Given the description of an element on the screen output the (x, y) to click on. 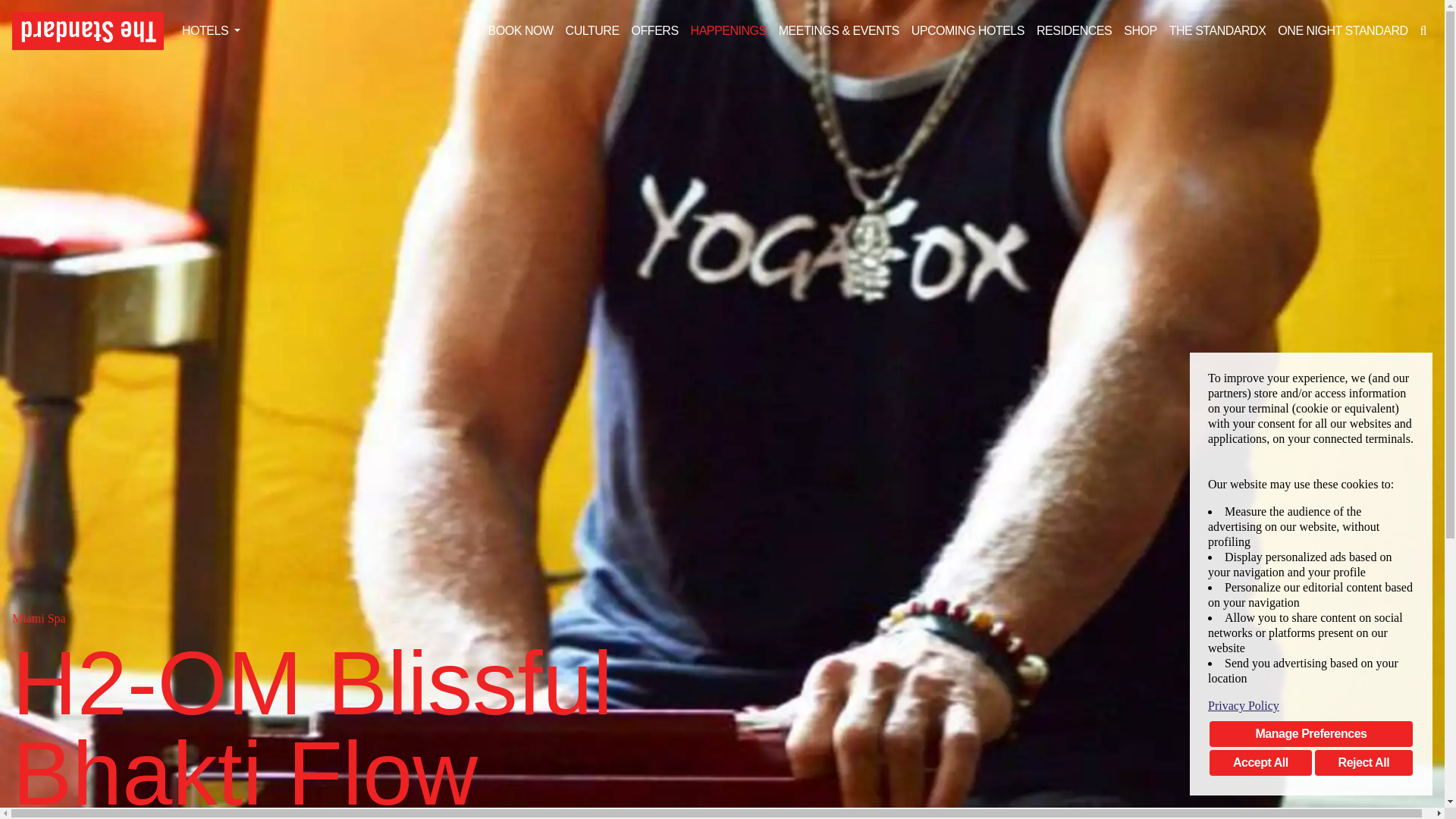
RESIDENCES (1074, 30)
Reject All (1363, 762)
CULTURE (592, 30)
UPCOMING HOTELS (967, 30)
HAPPENINGS (728, 30)
SHOP (1139, 30)
ONE NIGHT STANDARD (1342, 30)
BOOK NOW (520, 30)
Manage Preferences (1310, 733)
Accept All (1260, 762)
OFFERS (655, 30)
Privacy Policy (1310, 705)
HOTELS (211, 30)
THE STANDARDX (1217, 30)
